Given the description of an element on the screen output the (x, y) to click on. 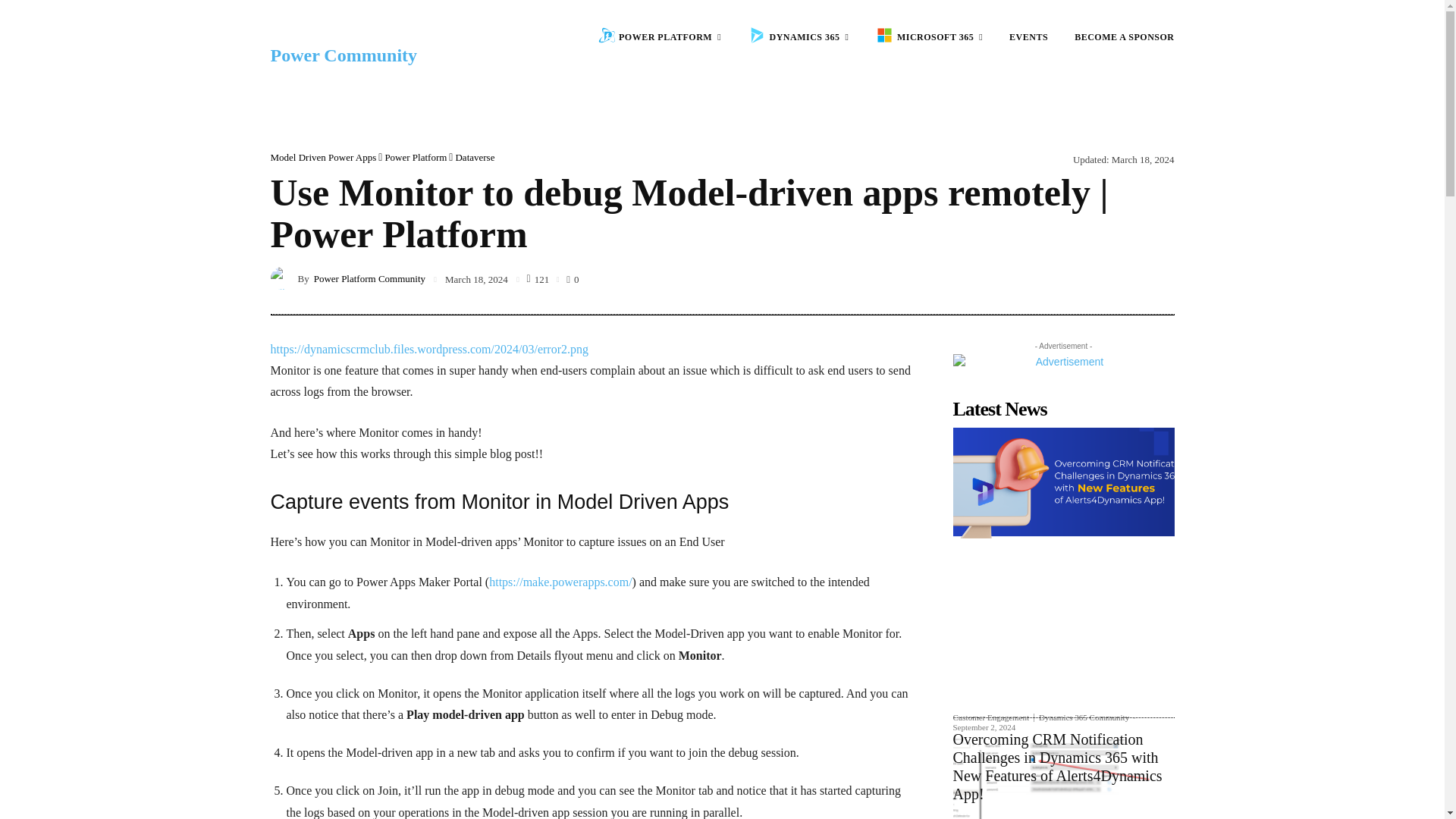
Power Community (342, 55)
POWER PLATFORM (659, 37)
Power Platform Community (283, 277)
